Given the description of an element on the screen output the (x, y) to click on. 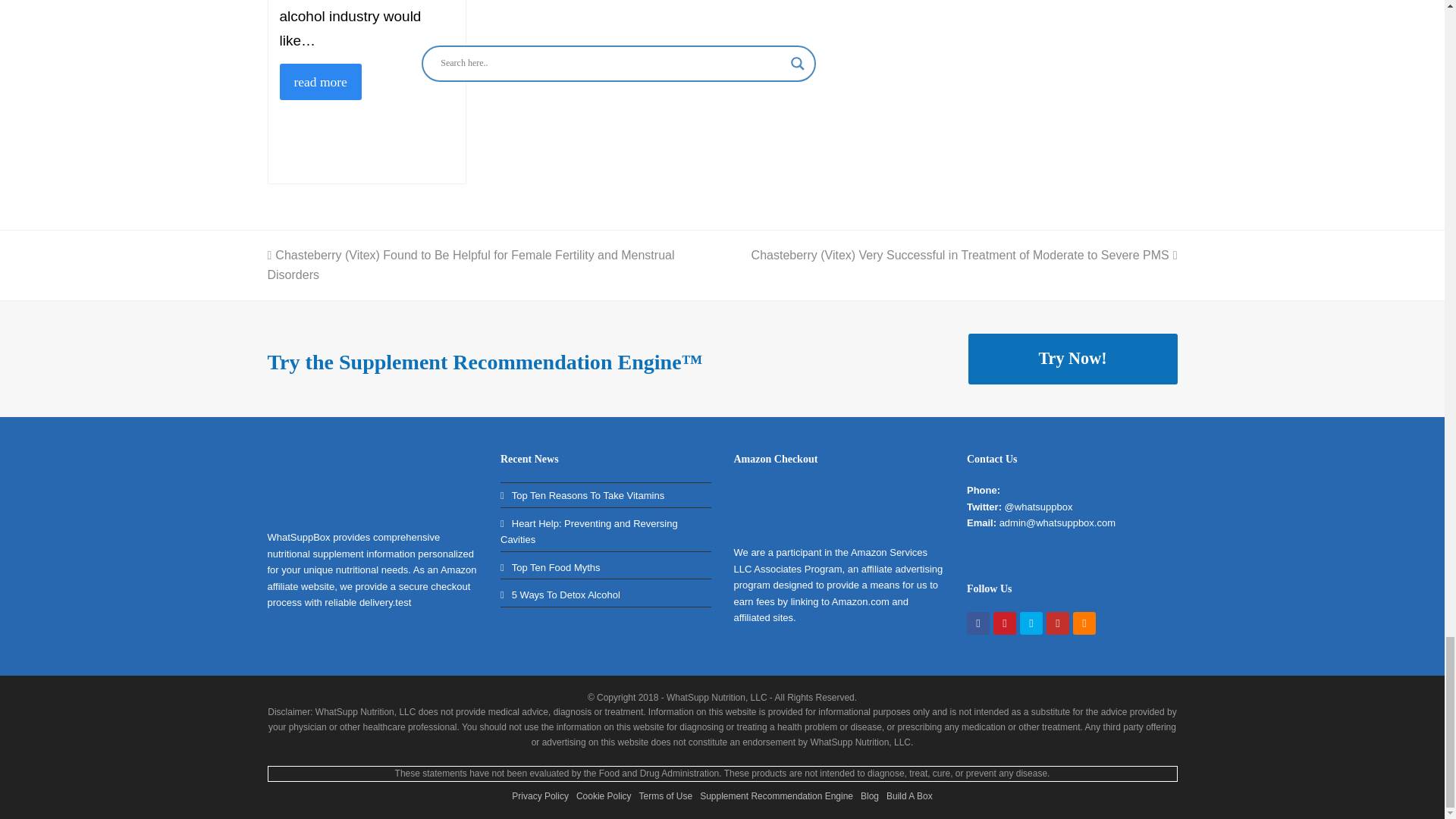
Youtube (1057, 622)
Twitter (1031, 622)
RSS (1084, 622)
Pinterest (1004, 622)
Facebook (978, 622)
